Given the description of an element on the screen output the (x, y) to click on. 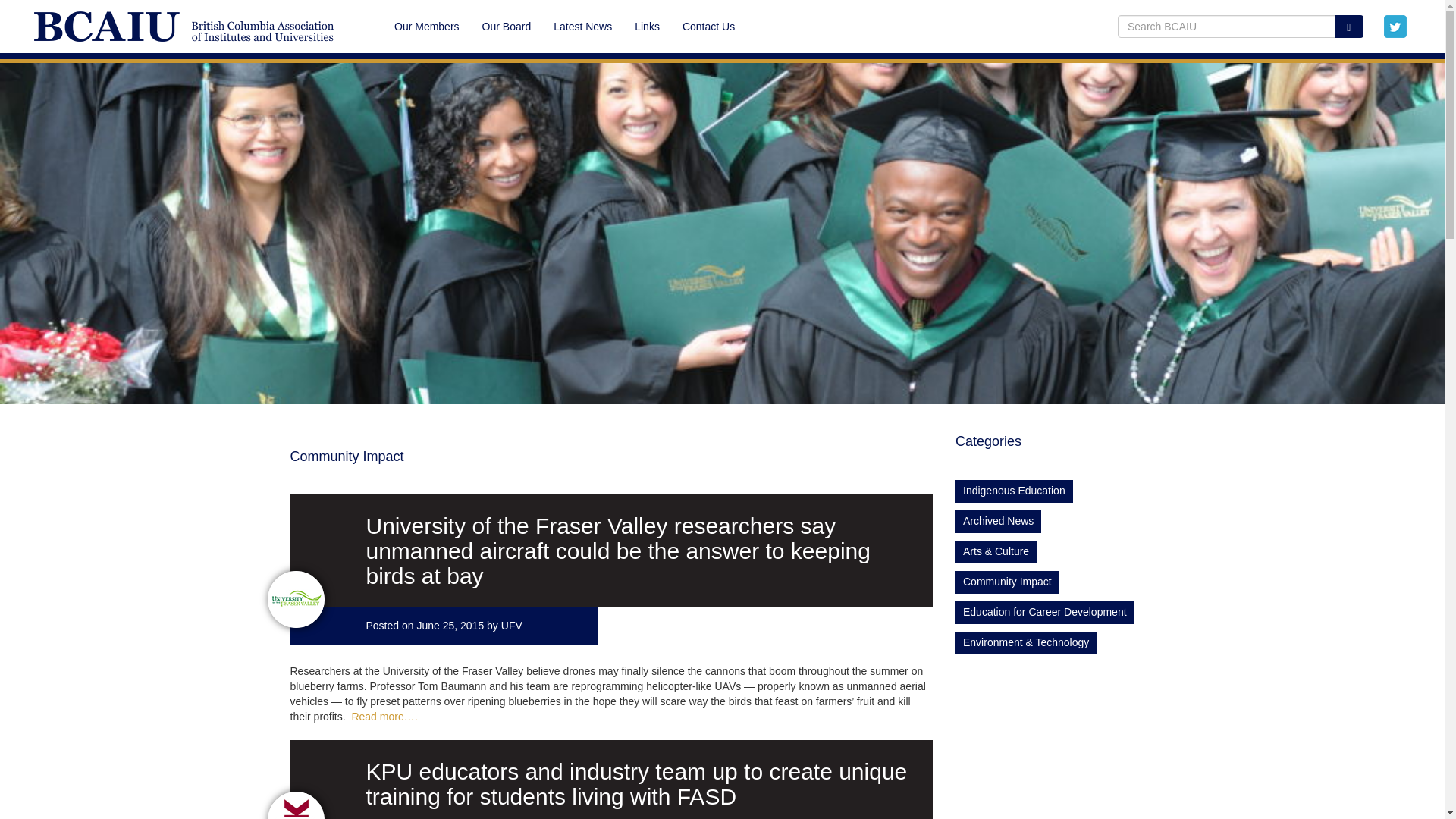
Contact Us (703, 26)
Our Members (426, 26)
UFV (511, 625)
Our Board (506, 26)
Latest News (582, 26)
Links (647, 26)
